Given the description of an element on the screen output the (x, y) to click on. 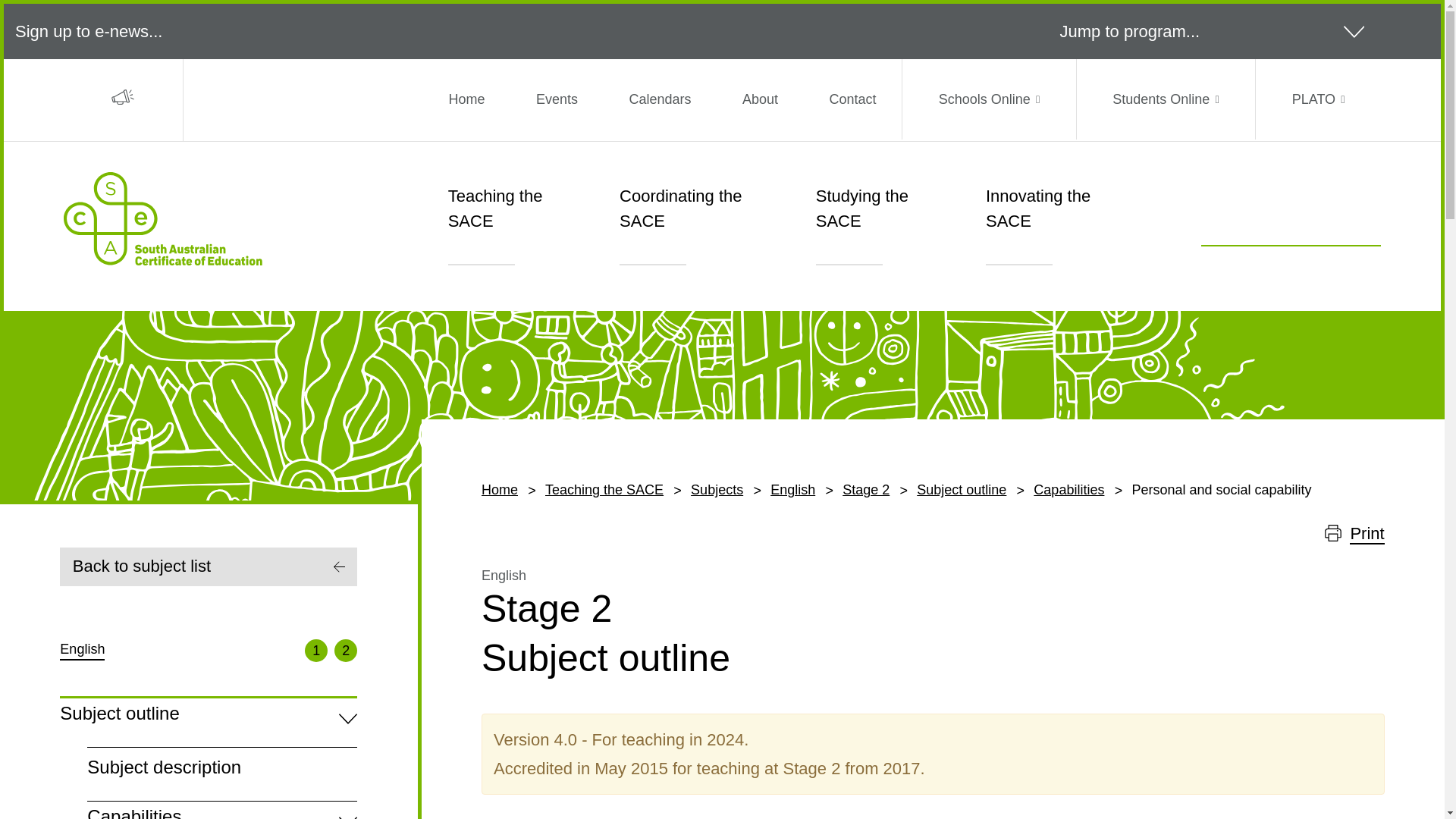
alert (122, 96)
print (123, 99)
